Given the description of an element on the screen output the (x, y) to click on. 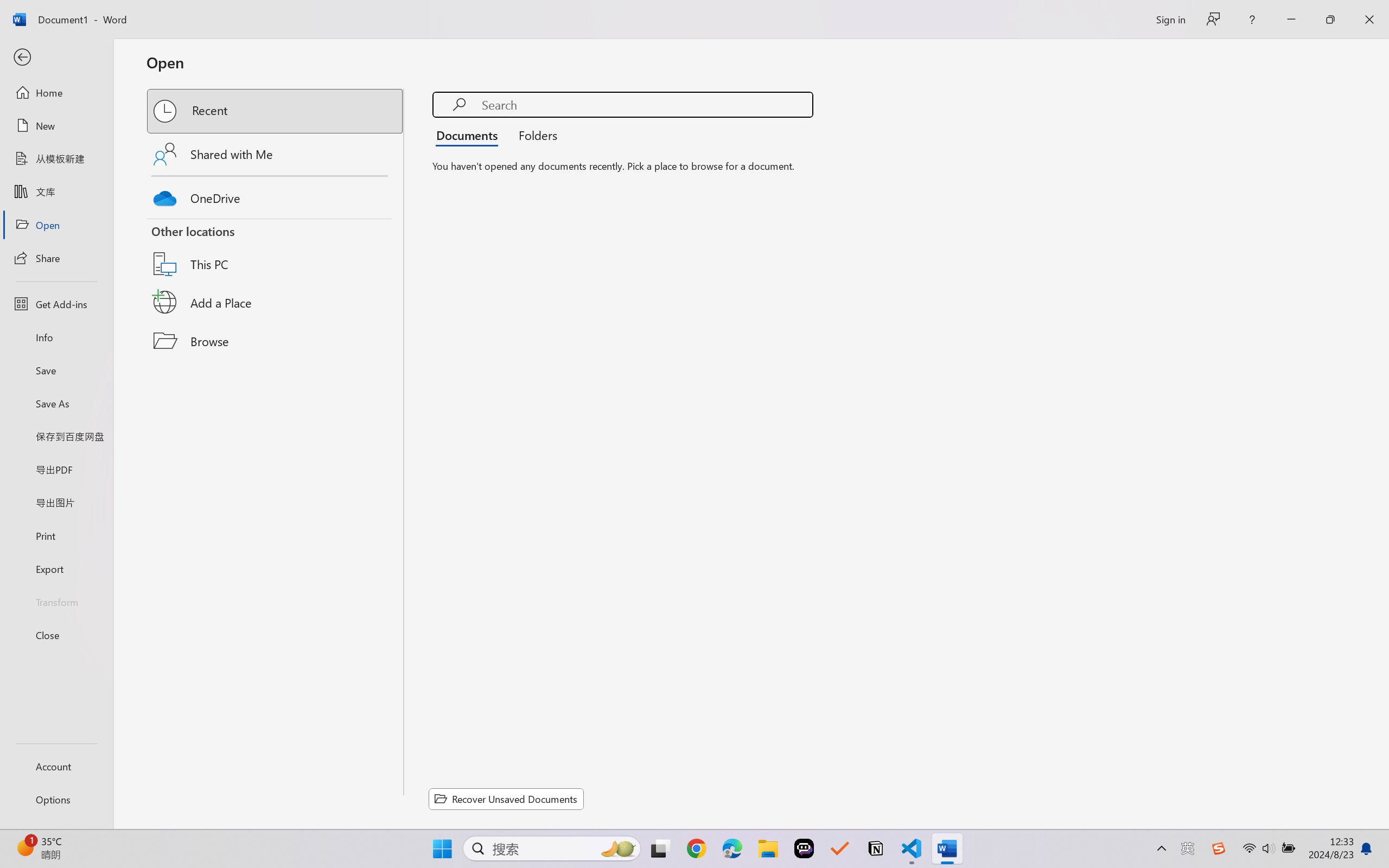
This PC (275, 249)
New (56, 125)
Account (56, 765)
Folders (534, 134)
Shared with Me (275, 153)
Recent (275, 110)
